Given the description of an element on the screen output the (x, y) to click on. 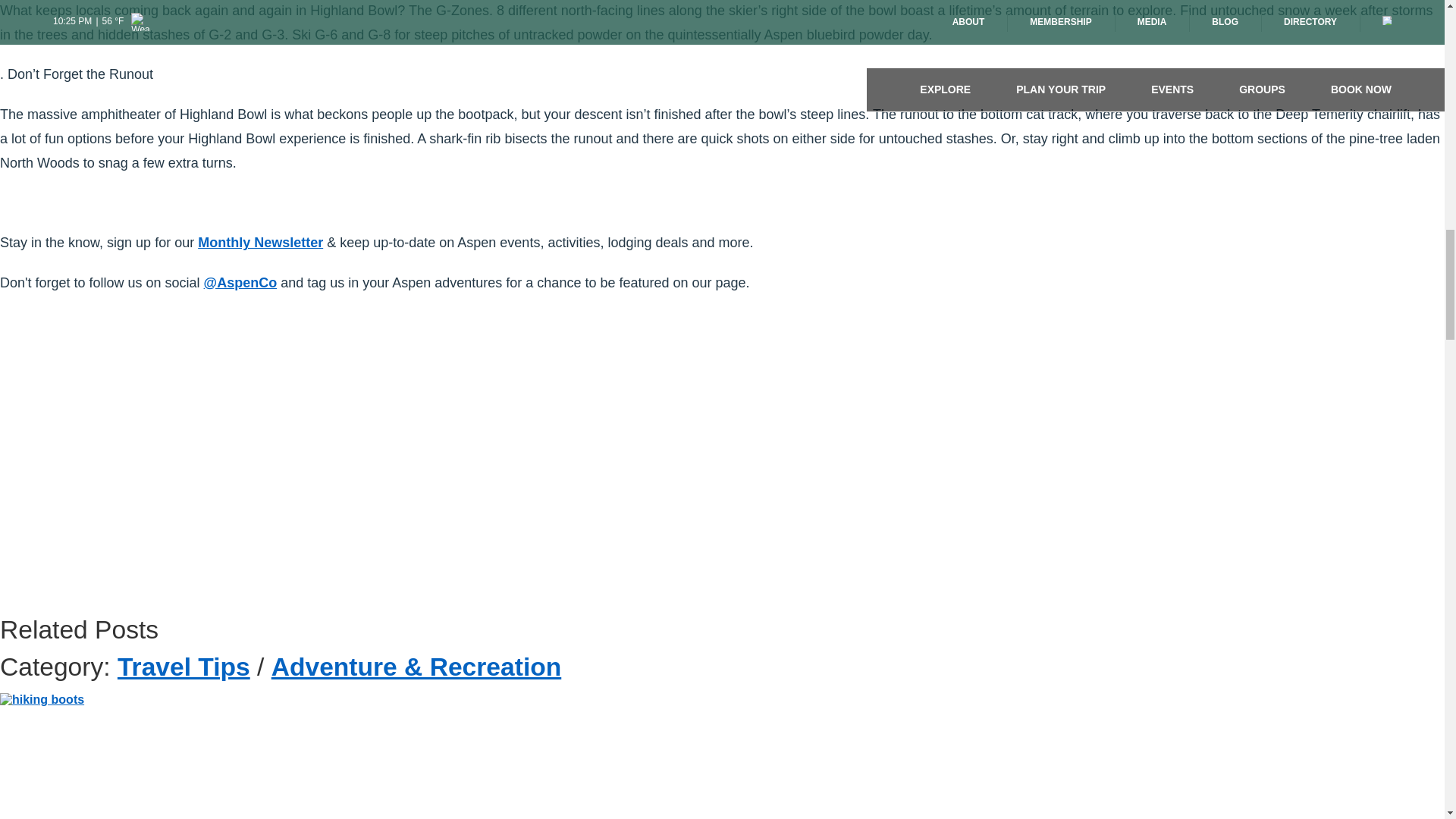
YouTube video player (212, 468)
